Given the description of an element on the screen output the (x, y) to click on. 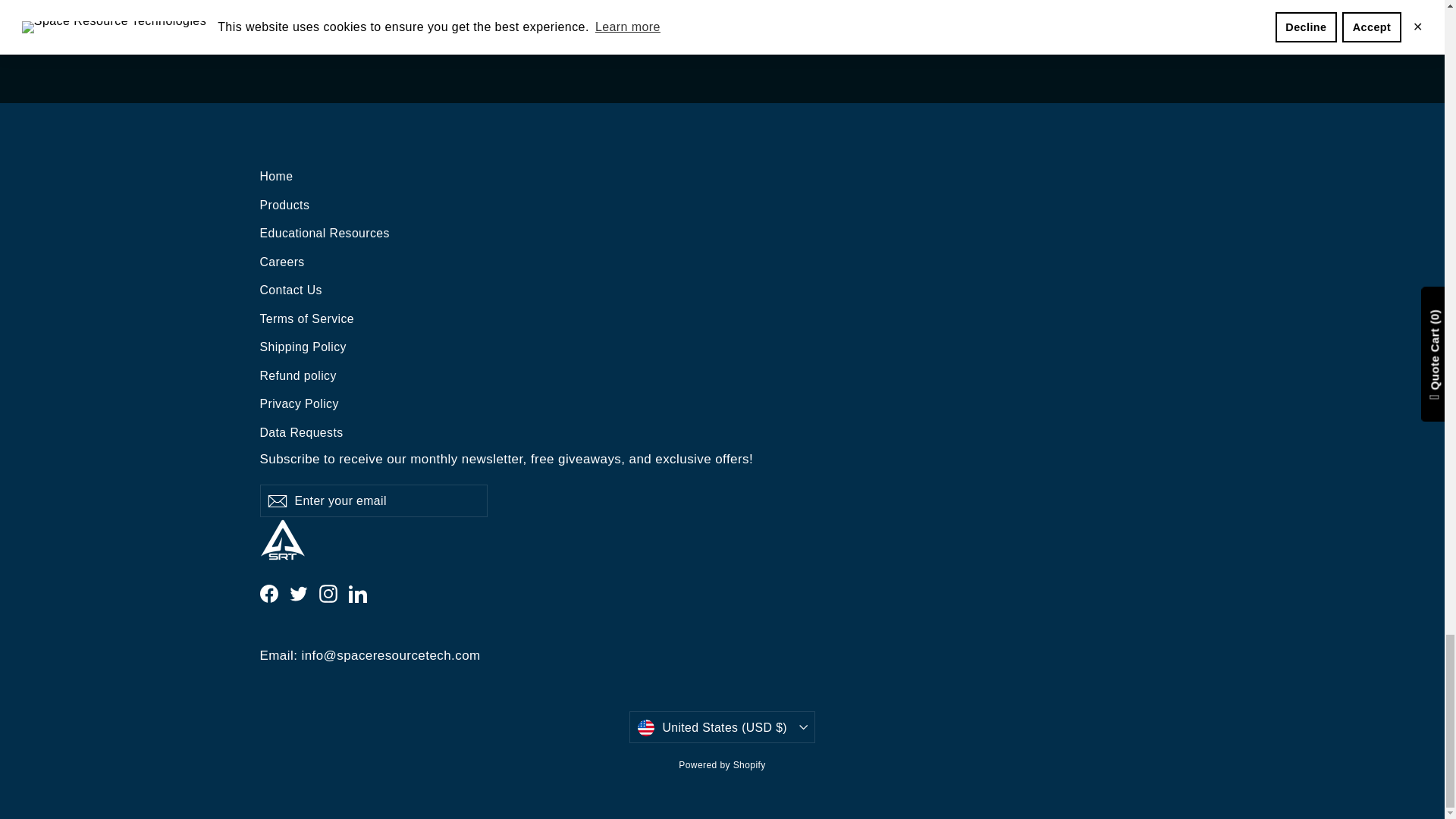
Space Resource Technologies on LinkedIn (357, 593)
Space Resource Technologies on Twitter (298, 593)
Space Resource Technologies on Instagram (327, 593)
